Given the description of an element on the screen output the (x, y) to click on. 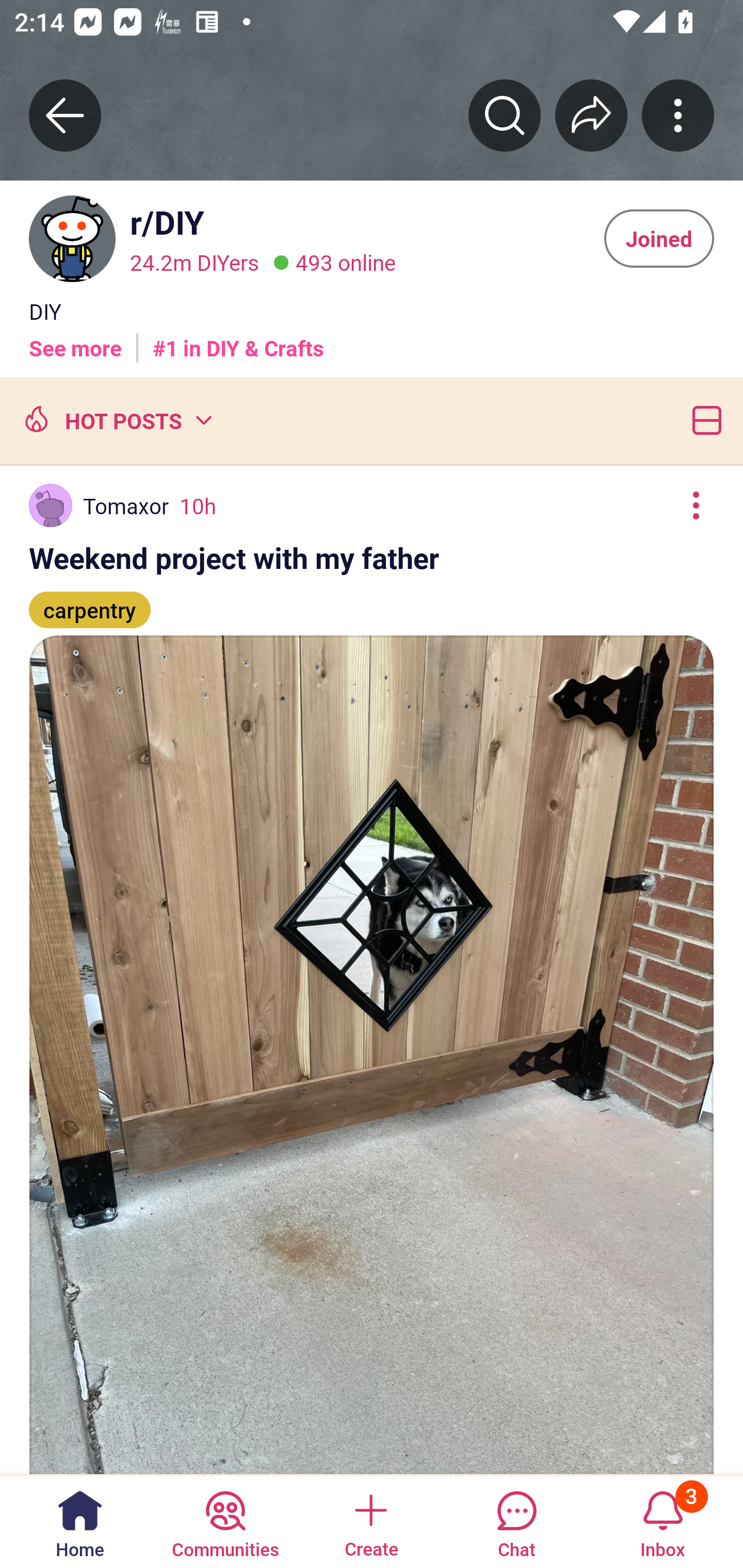
Back (64, 115)
Search r/﻿DIY (504, 115)
Share r/﻿DIY (591, 115)
More community actions (677, 115)
See more (74, 340)
#1 in DIY & Crafts (238, 340)
Hot posts HOT POSTS (116, 420)
Card (703, 420)
carpentry (89, 601)
Home (80, 1520)
Communities (225, 1520)
Create a post Create (370, 1520)
Chat (516, 1520)
Inbox, has 3 notifications 3 Inbox (662, 1520)
